Given the description of an element on the screen output the (x, y) to click on. 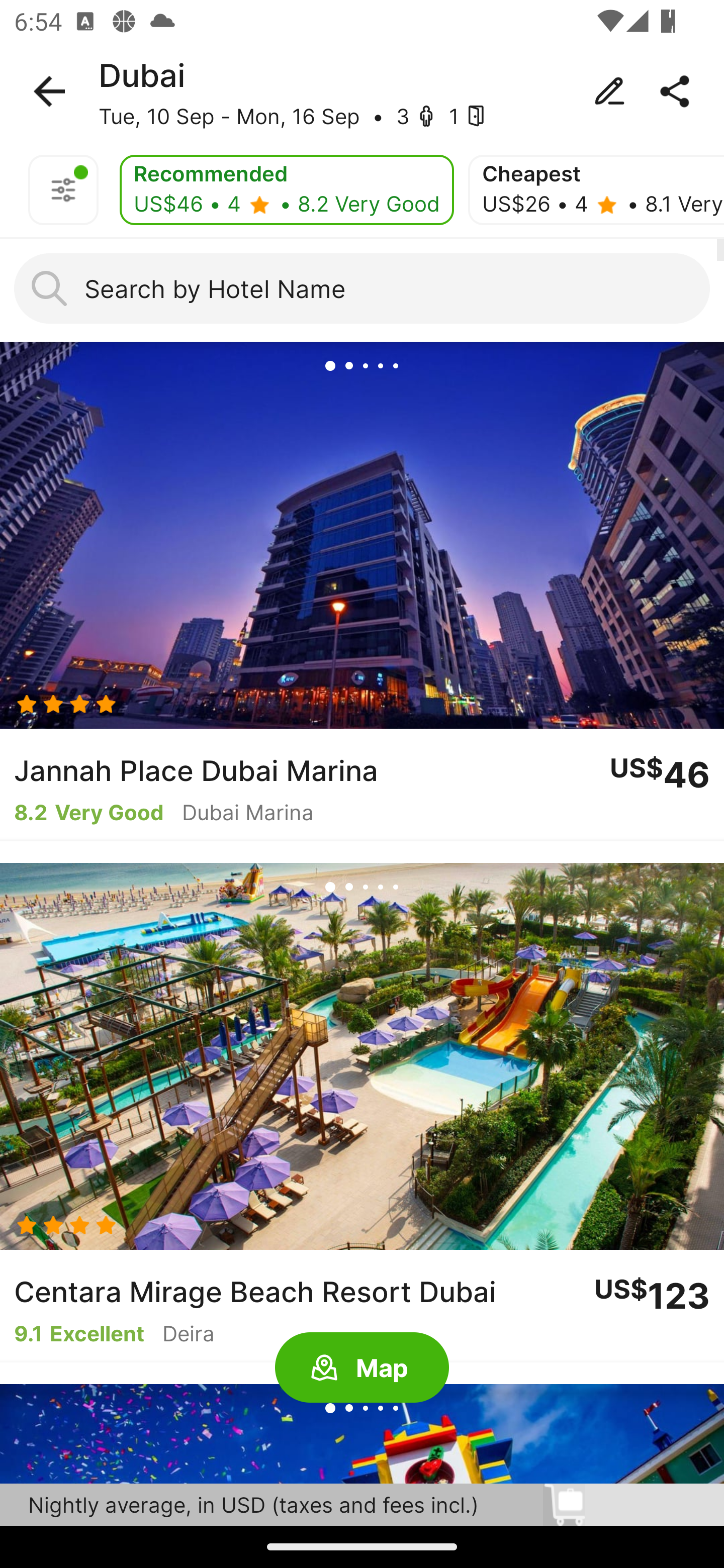
Dubai Tue, 10 Sep - Mon, 16 Sep  •  3 -  1 - (361, 91)
Recommended  US$46  • 4 - • 8.2 Very Good (286, 190)
Cheapest US$26  • 4 - • 8.1 Very Good (596, 190)
Search by Hotel Name  (361, 288)
Map  (361, 1367)
